Given the description of an element on the screen output the (x, y) to click on. 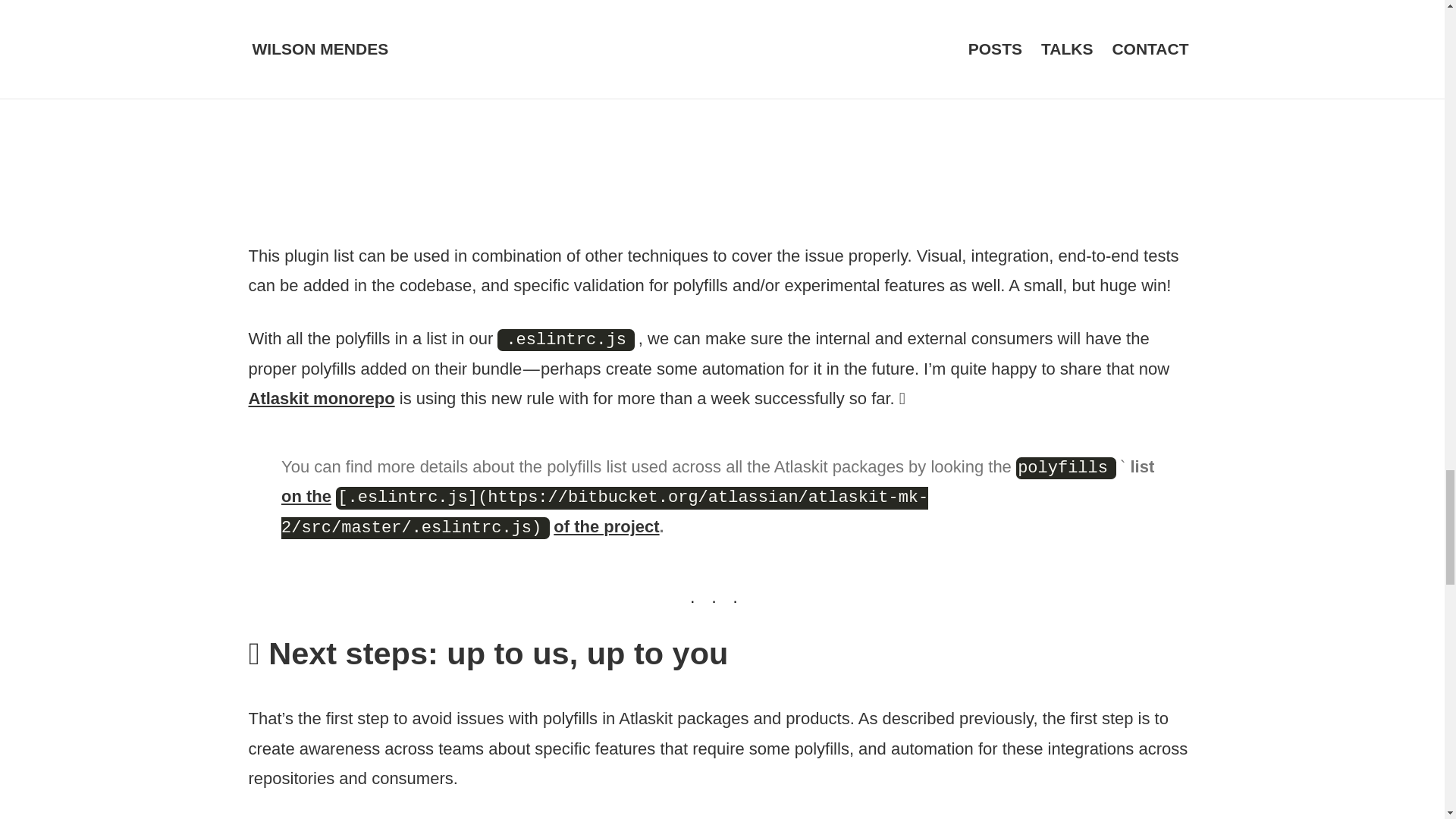
of the project (606, 526)
on the (306, 496)
Atlaskit monorepo (321, 398)
